Given the description of an element on the screen output the (x, y) to click on. 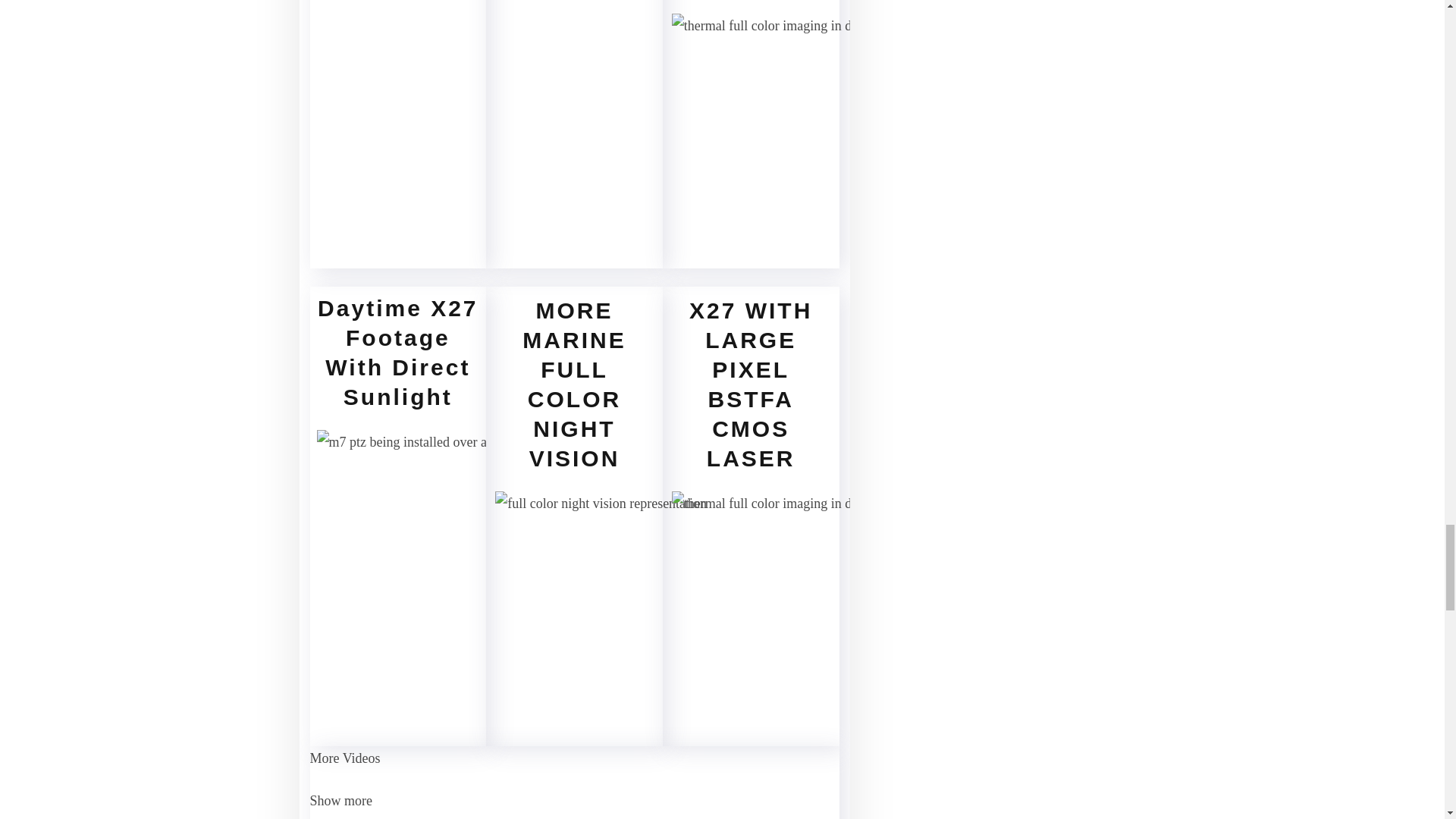
Full Color Night Vision - X27 Osprey Gen 4 Night Vision (482, 99)
Full Color Night Vision - X27 Osprey Gen 4 Night Vision (555, 552)
Full Color Night Vision - X27 Osprey Gen 4 Night Vision (834, 136)
Full Color Night Vision - X27 Osprey Gen 4 Night Vision (618, 99)
